Given the description of an element on the screen output the (x, y) to click on. 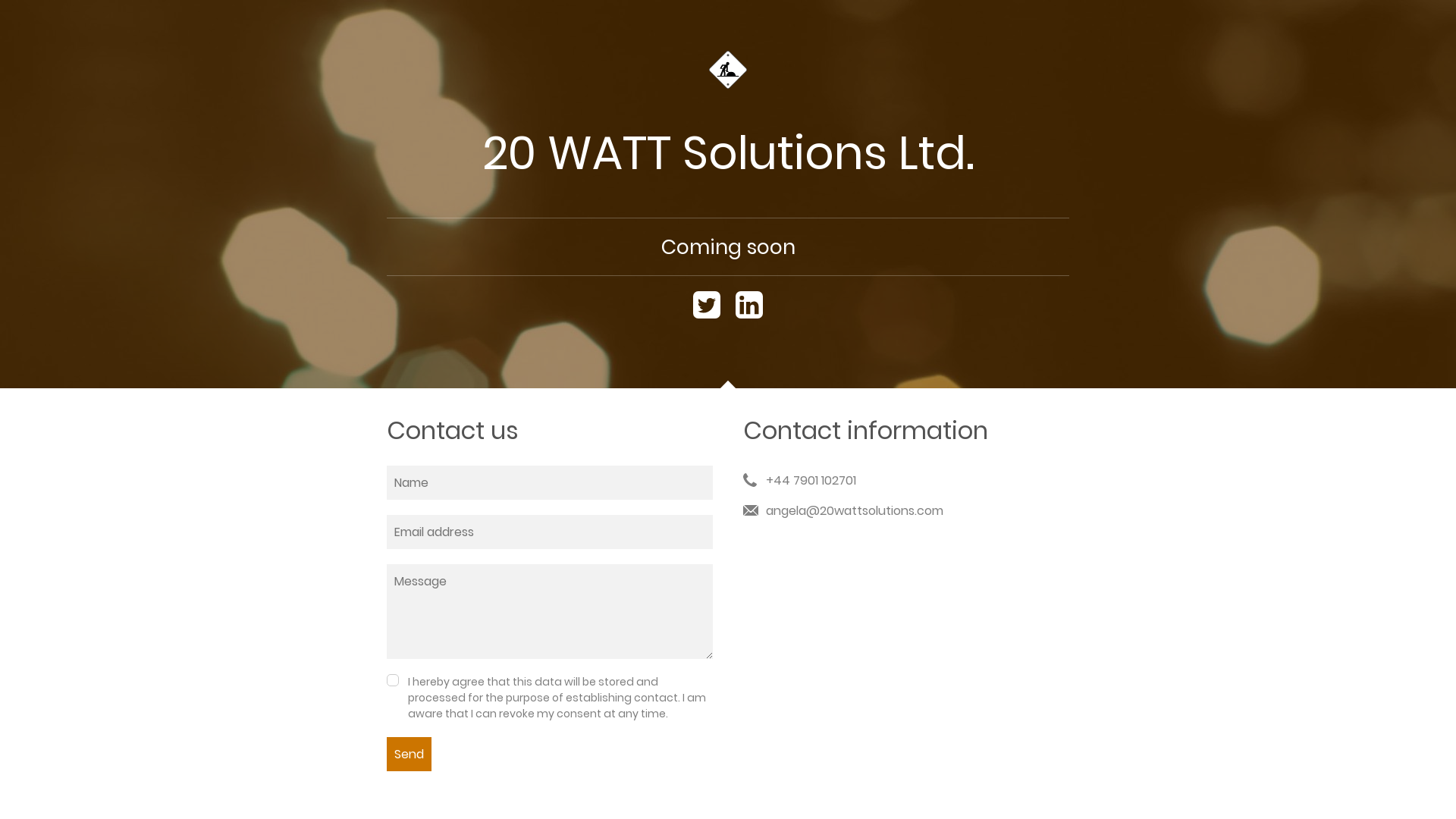
Send Element type: text (408, 754)
+44 7901 102701 Element type: text (810, 480)
angela@20wattsolutions.com Element type: text (906, 510)
